Given the description of an element on the screen output the (x, y) to click on. 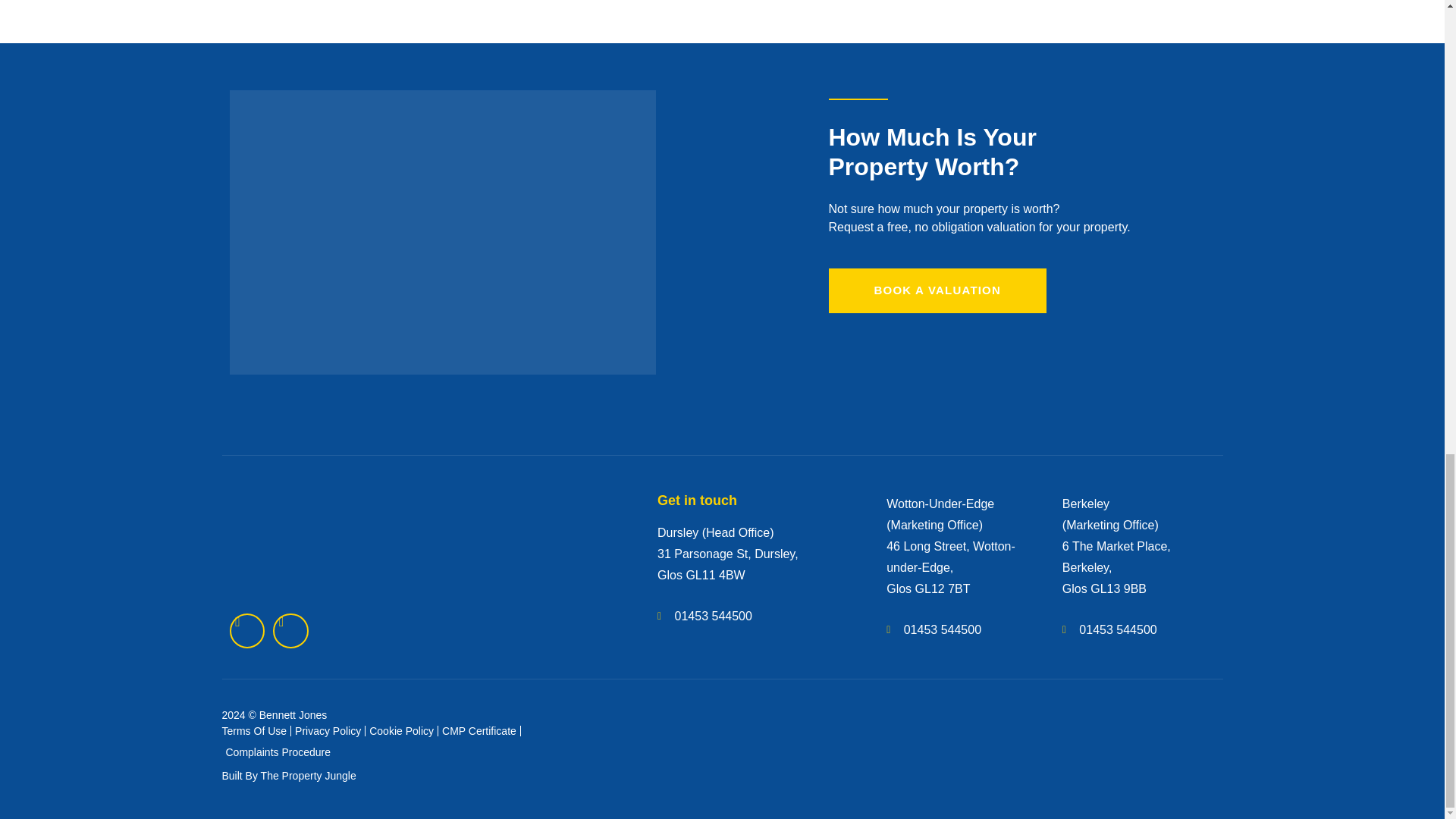
Cookie Policy (401, 731)
CMP Certificate (479, 731)
01453 544500 (1135, 629)
Privacy Policy (328, 731)
Terms Of Use (253, 731)
BOOK A VALUATION (937, 290)
01453 544500 (959, 629)
01453 544500 (757, 616)
Complaints Procedure (278, 752)
